Given the description of an element on the screen output the (x, y) to click on. 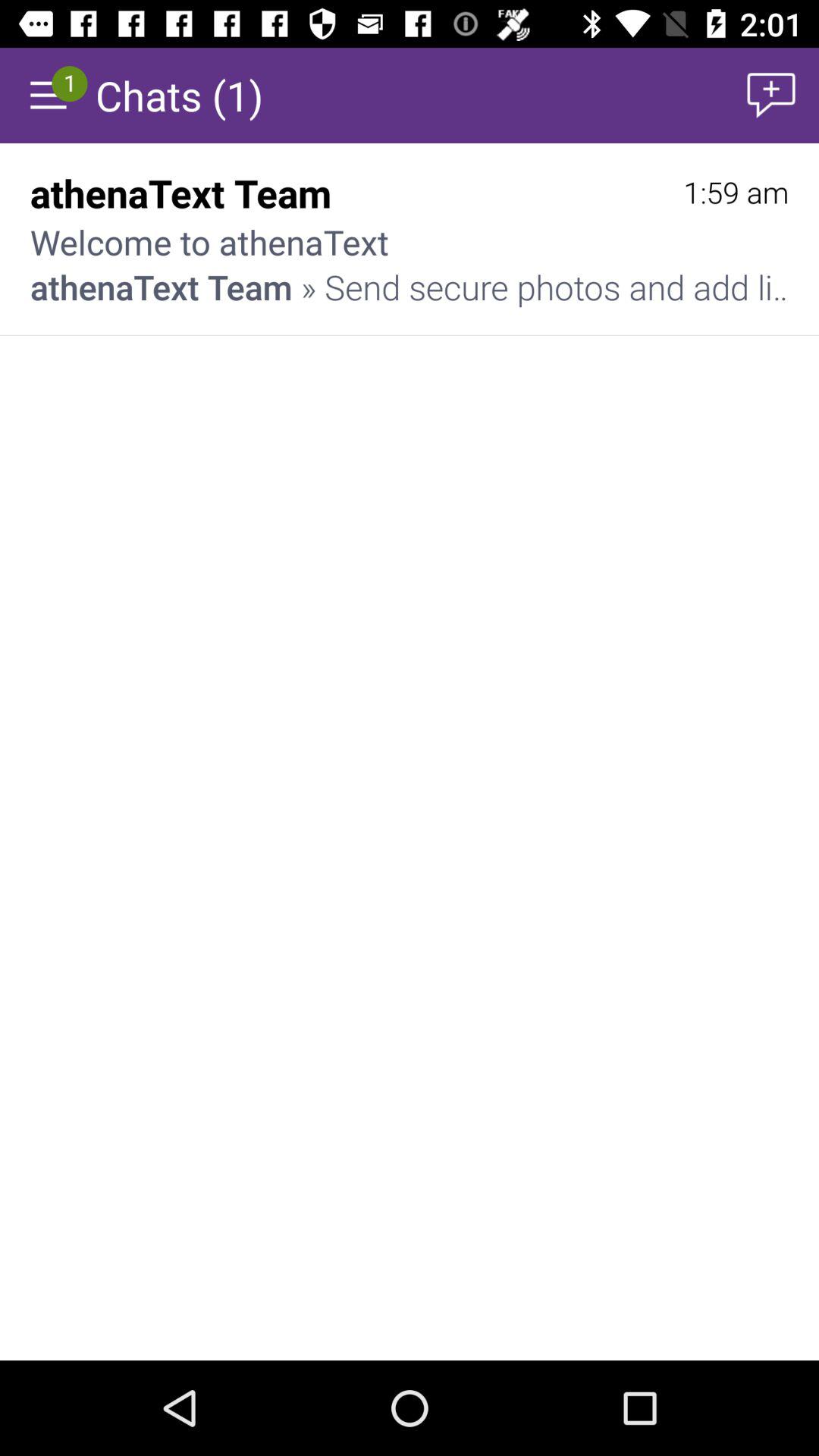
launch item next to athenatext team (735, 192)
